Given the description of an element on the screen output the (x, y) to click on. 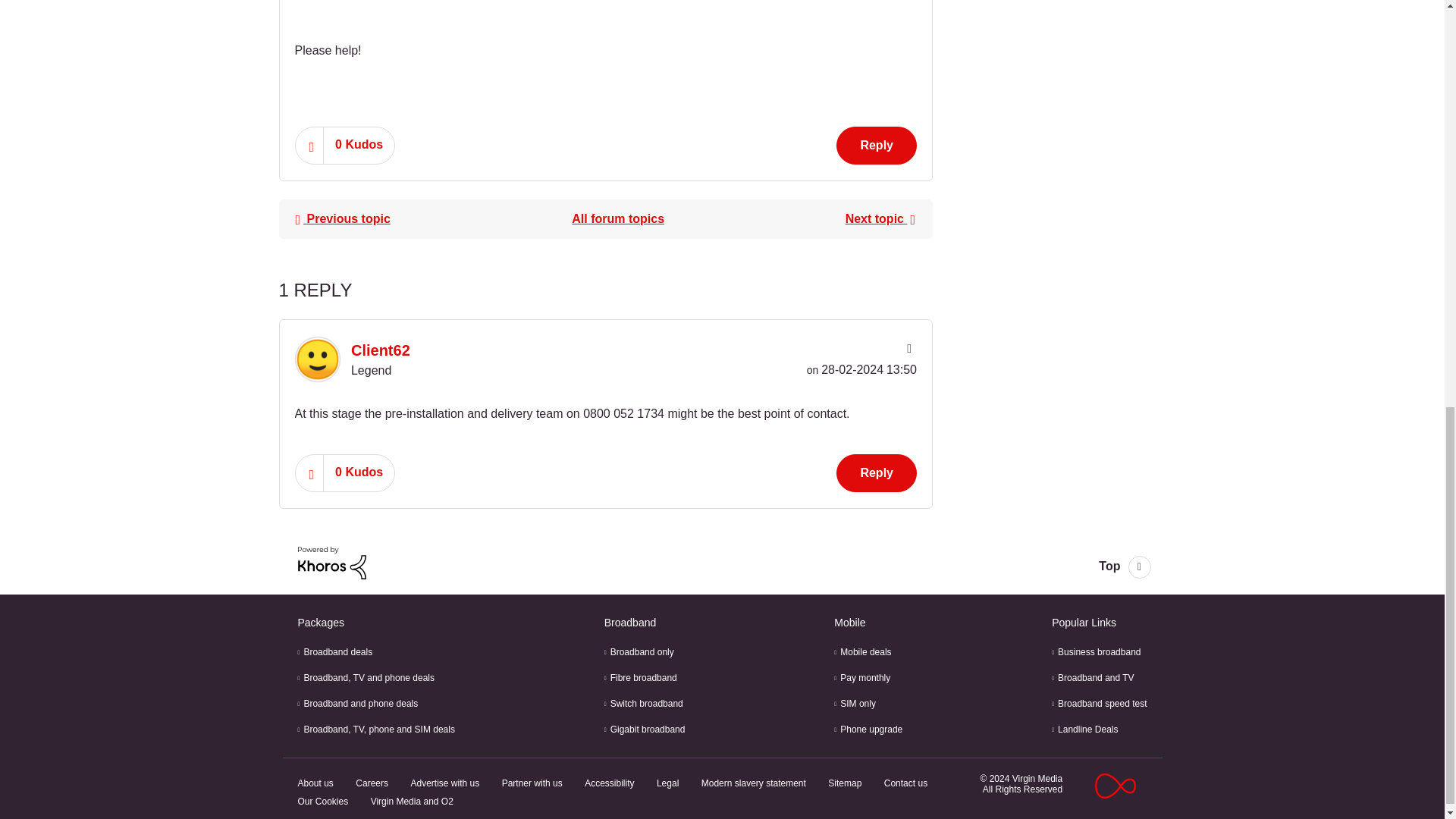
QuickStart, set up and connections (618, 218)
The total number of kudos this post has received. (358, 472)
The total number of kudos this post has received. (358, 144)
Pre-contract details received, now radio silence (879, 218)
Client62 (316, 359)
